Given the description of an element on the screen output the (x, y) to click on. 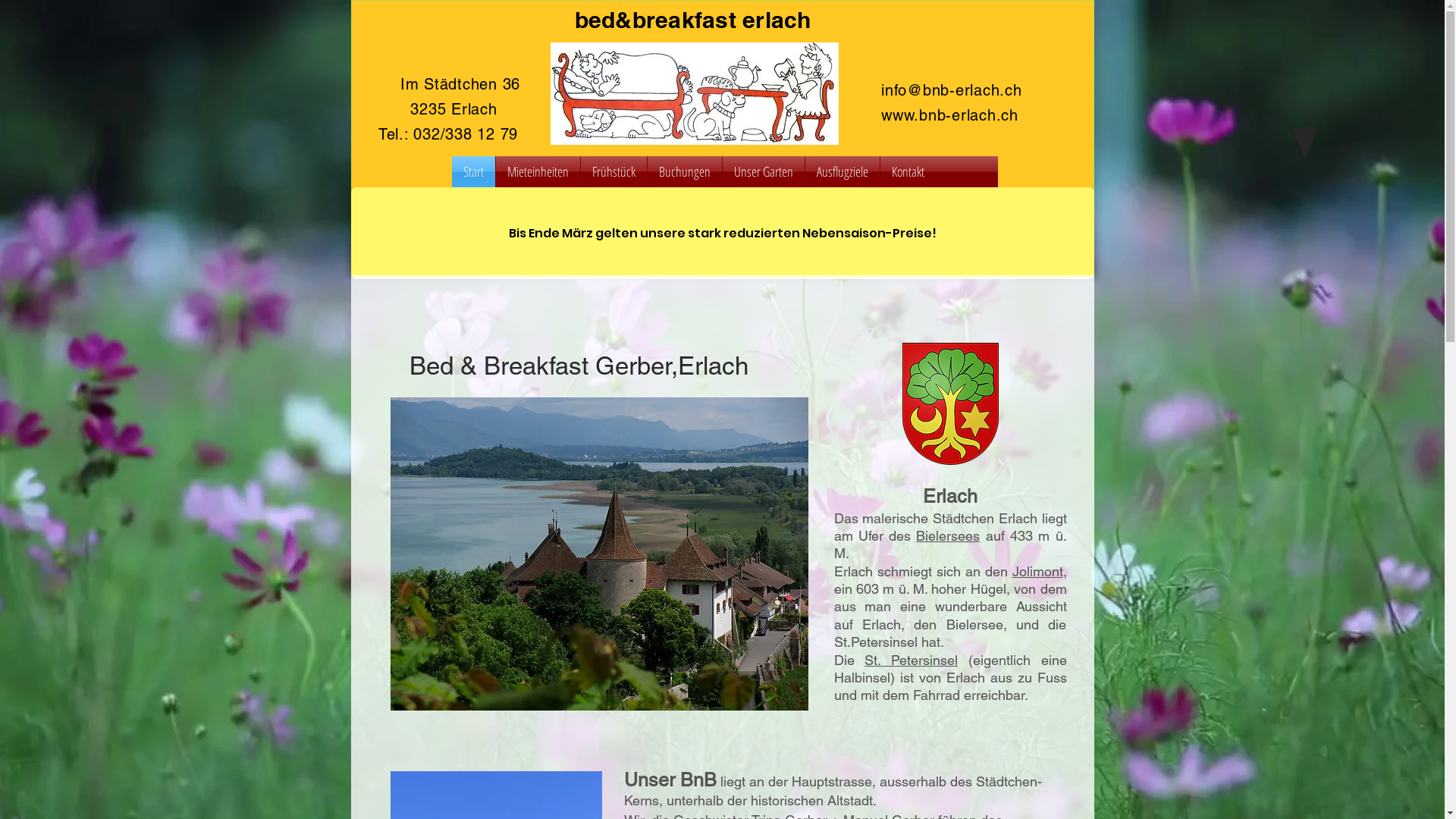
Bielersees Element type: text (947, 535)
Jolimont Element type: text (1036, 571)
Unser Garten Element type: text (762, 171)
Buchungen Element type: text (684, 171)
Erlacher Wappen.png Element type: hover (950, 403)
Bed and Breakfast Element type: hover (694, 93)
St. Petersinsel Element type: text (910, 660)
Ausflugziele Element type: text (842, 171)
Kontakt Element type: text (907, 171)
Mieteinheiten Element type: text (537, 171)
Start Element type: text (473, 171)
Erlach3.jpg Element type: hover (598, 553)
info@bnb-erlach.ch Element type: text (951, 90)
